Given the description of an element on the screen output the (x, y) to click on. 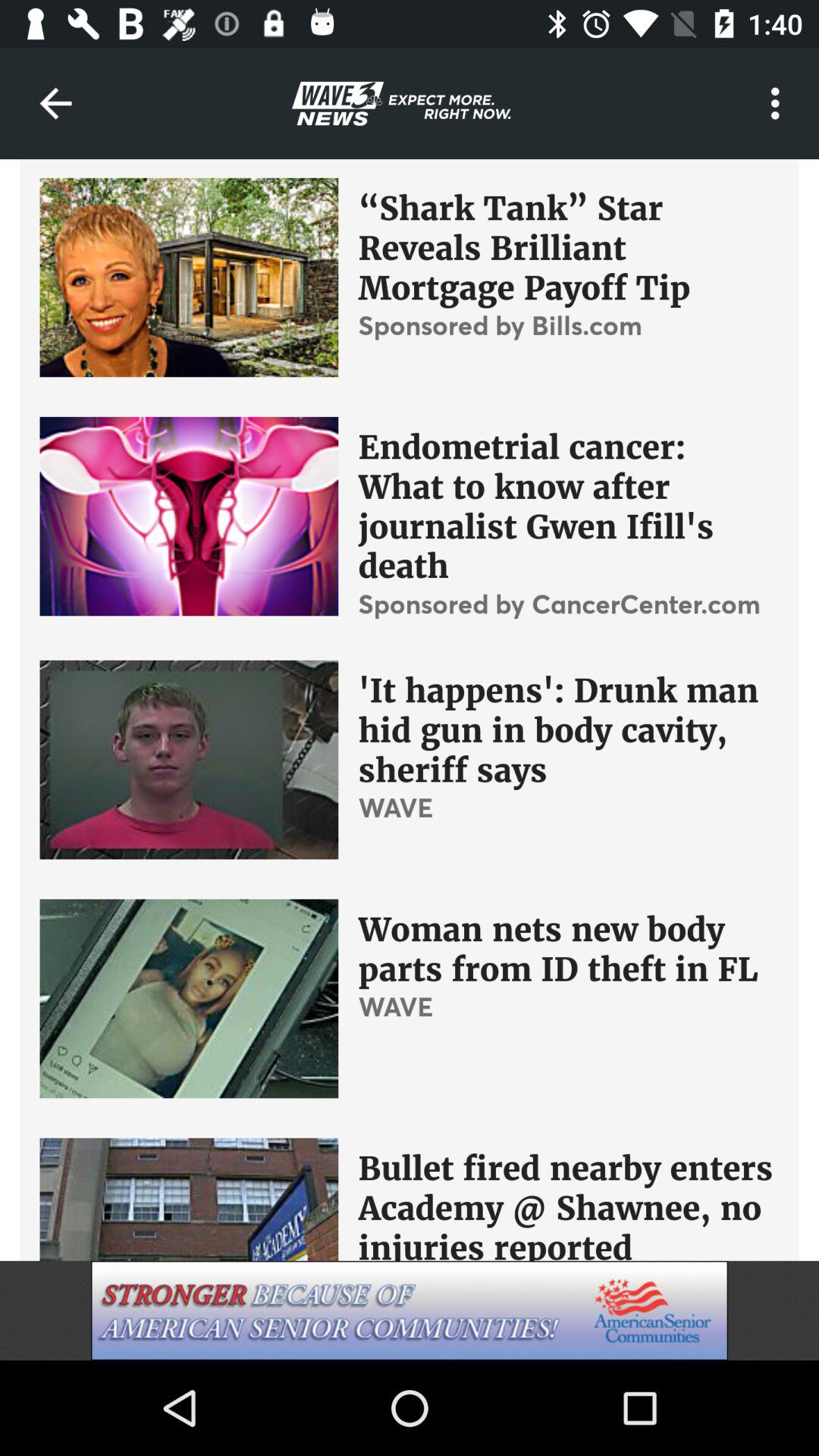
advertisement banner (409, 1310)
